Given the description of an element on the screen output the (x, y) to click on. 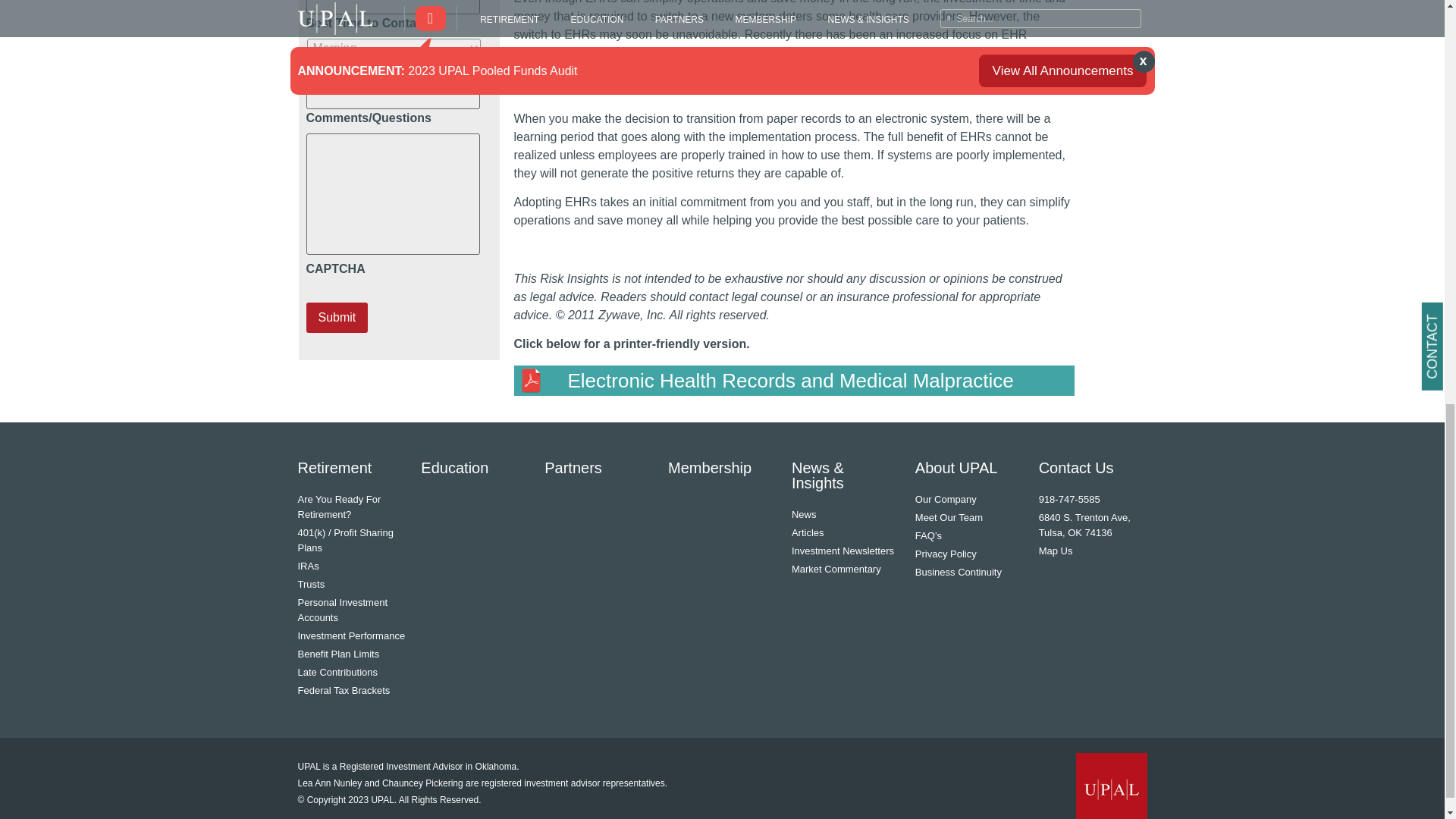
Submit (336, 317)
